Given the description of an element on the screen output the (x, y) to click on. 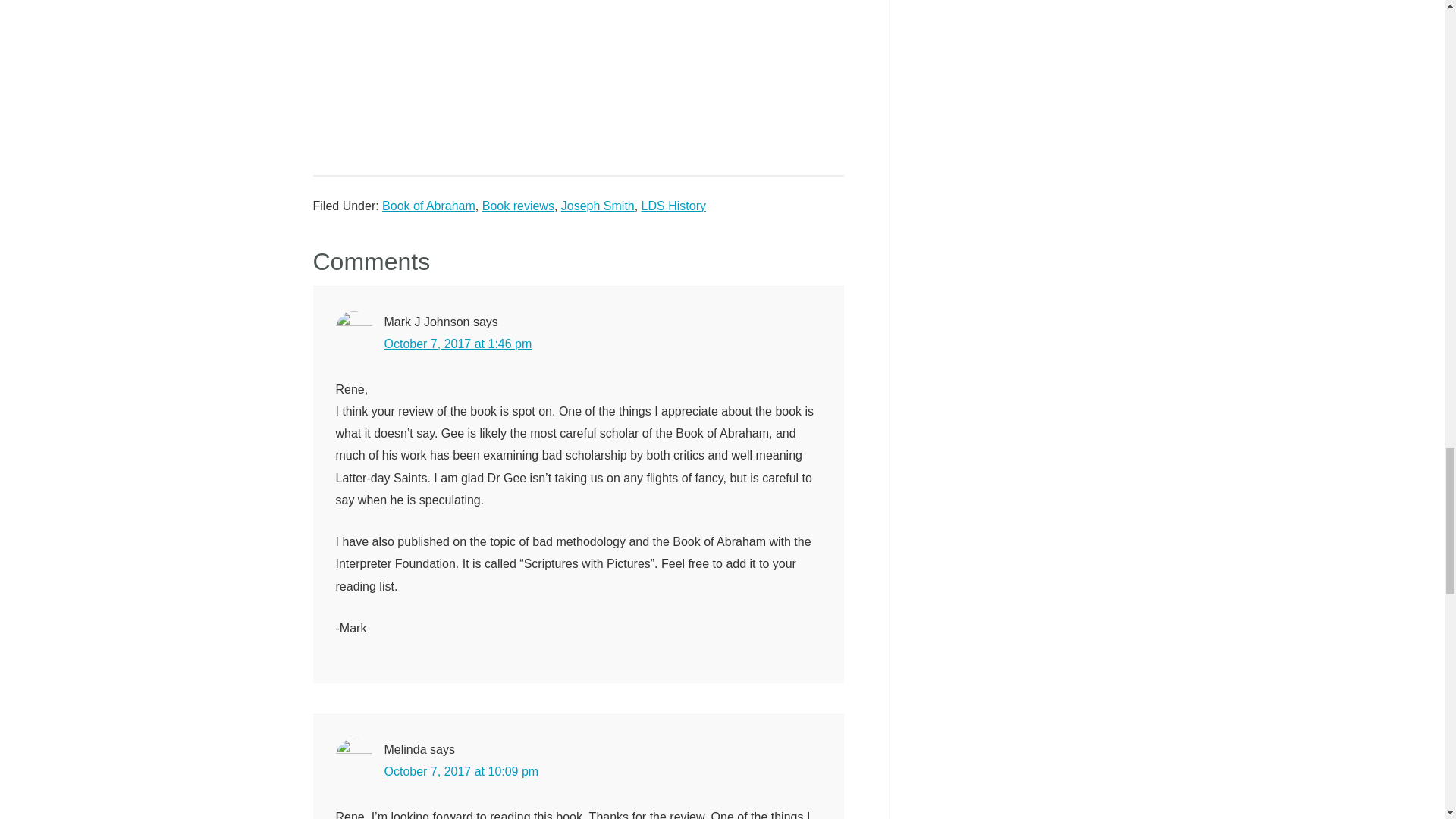
October 7, 2017 at 1:46 pm (457, 343)
LDS History (674, 205)
Book reviews (517, 205)
Book of Abraham (428, 205)
Joseph Smith (597, 205)
October 7, 2017 at 10:09 pm (461, 771)
